Given the description of an element on the screen output the (x, y) to click on. 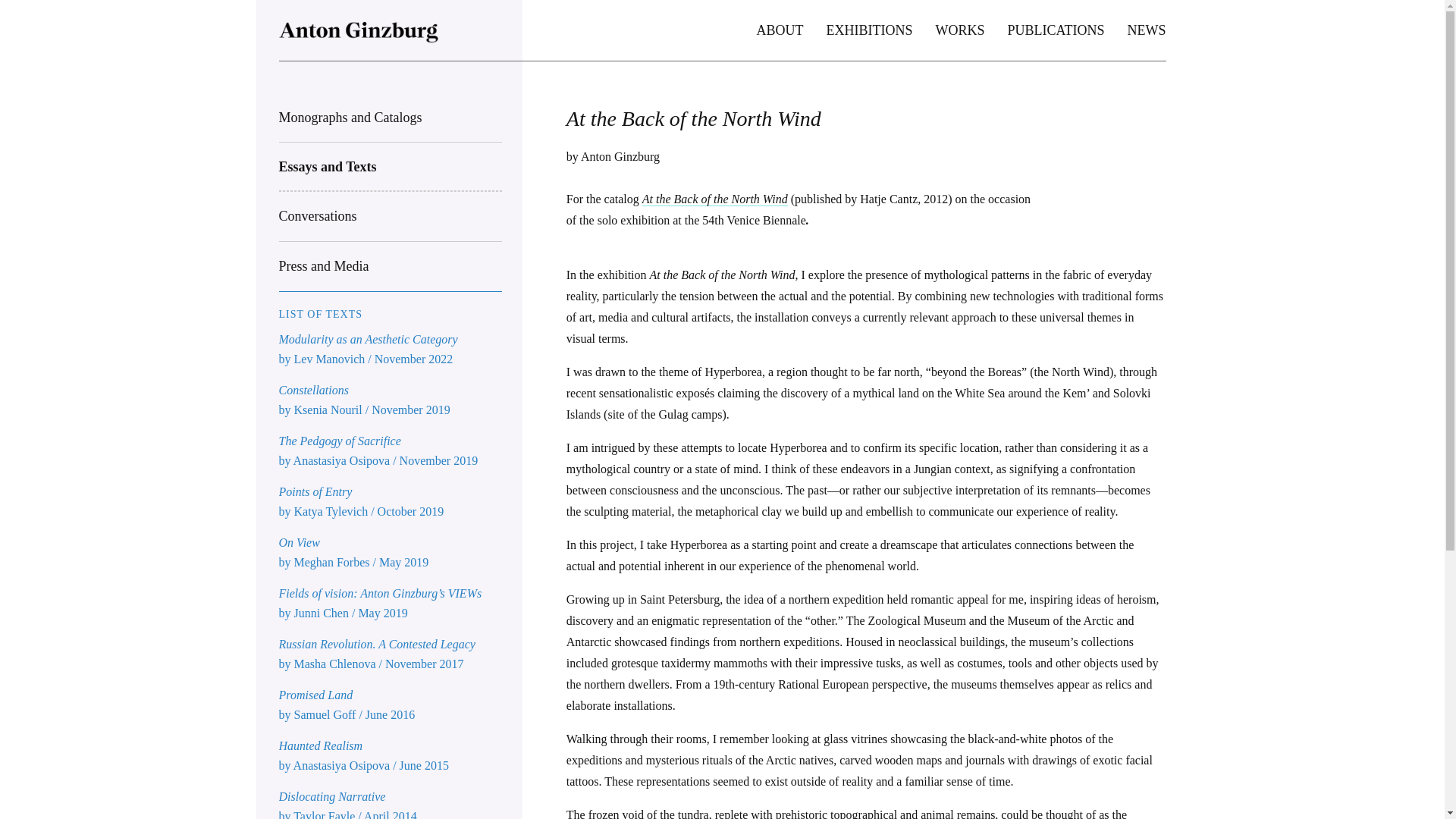
PUBLICATIONS (1055, 30)
EXHIBITIONS (868, 30)
ABOUT (779, 30)
WORKS (959, 30)
